Given the description of an element on the screen output the (x, y) to click on. 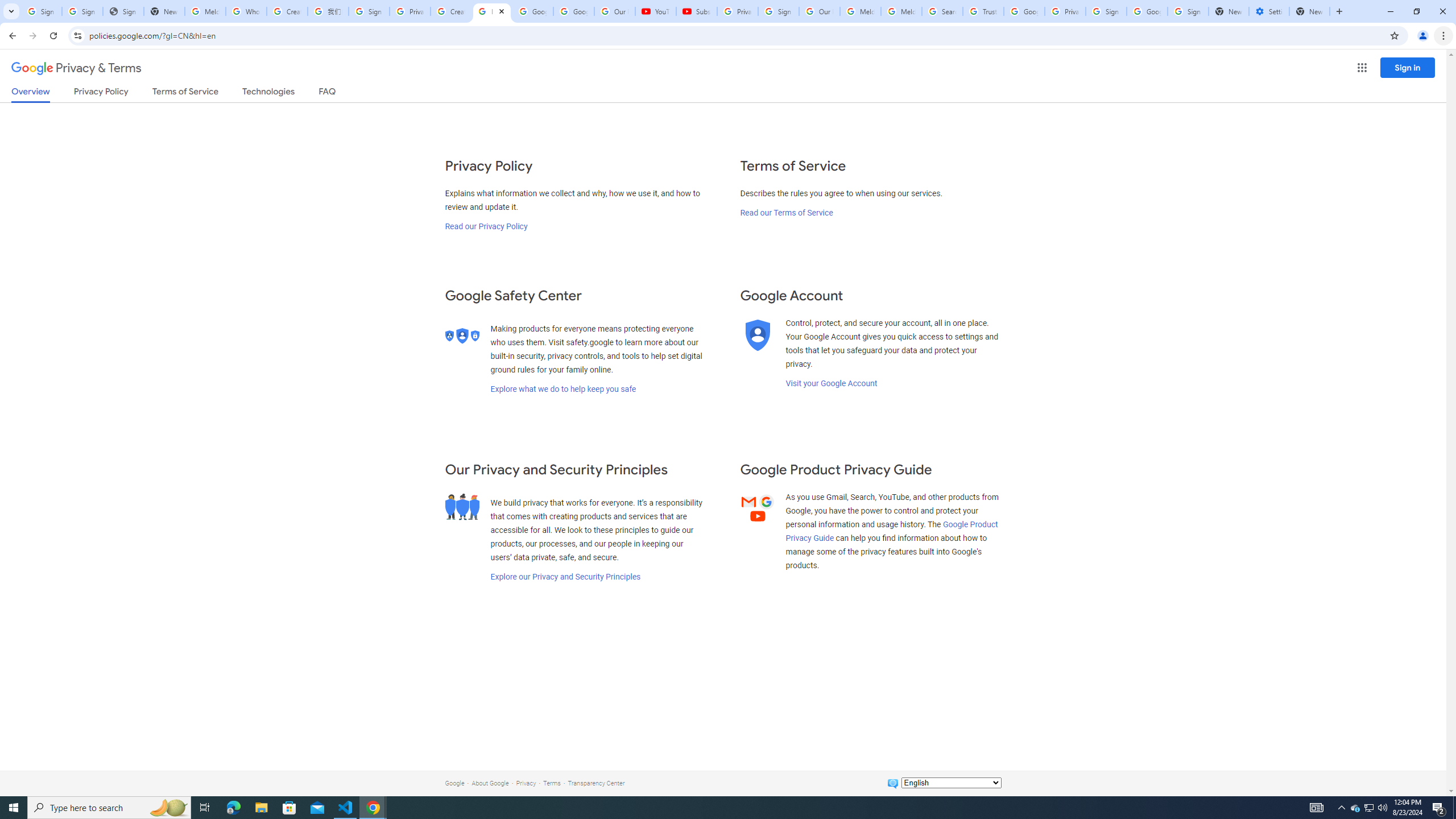
Google Account (573, 11)
Overview (30, 94)
Google apps (1362, 67)
Sign in (1407, 67)
New Tab (1309, 11)
Subscriptions - YouTube (696, 11)
Read our Privacy Policy (485, 226)
FAQ (327, 93)
Sign in - Google Accounts (1187, 11)
